Given the description of an element on the screen output the (x, y) to click on. 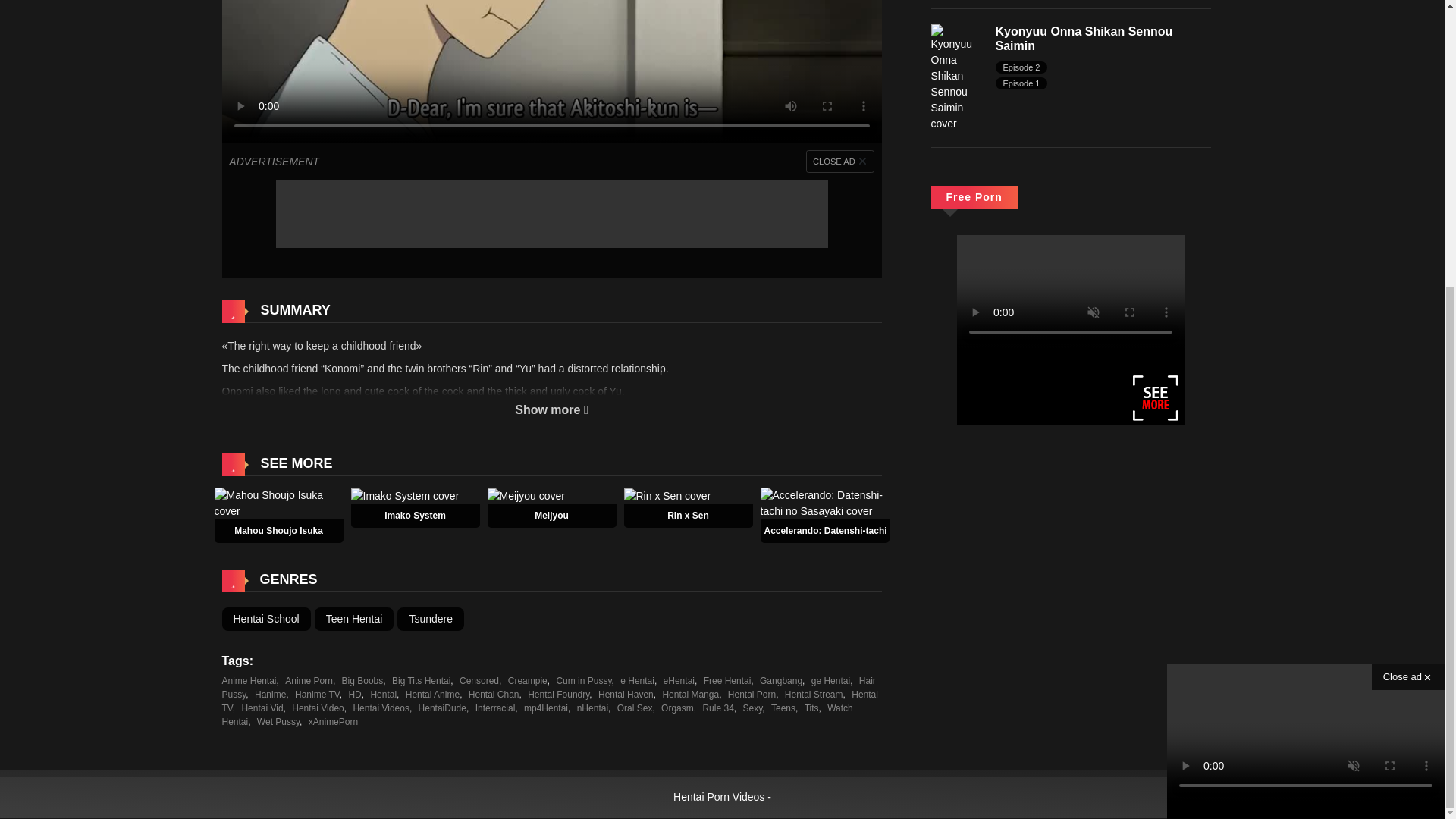
Kyonyuu Onna Shikan Sennou Saimin (1083, 38)
Kyonyuu Onna Shikan Sennou Saimin (955, 77)
Teen Hentai (354, 618)
Imako System (404, 494)
Mahou Shoujo Isuka (278, 502)
CLOSE AD (840, 160)
Rin x Sen (687, 515)
Anime Hentai (248, 680)
Accelerando: Datenshi-tachi no Sasayaki (853, 530)
Meijyou (525, 494)
Mahou Shoujo Isuka (278, 530)
Anime Porn (309, 680)
Tsundere (430, 618)
Accelerando: Datenshi-tachi no Sasayaki (824, 502)
Rin x Sen (687, 515)
